Given the description of an element on the screen output the (x, y) to click on. 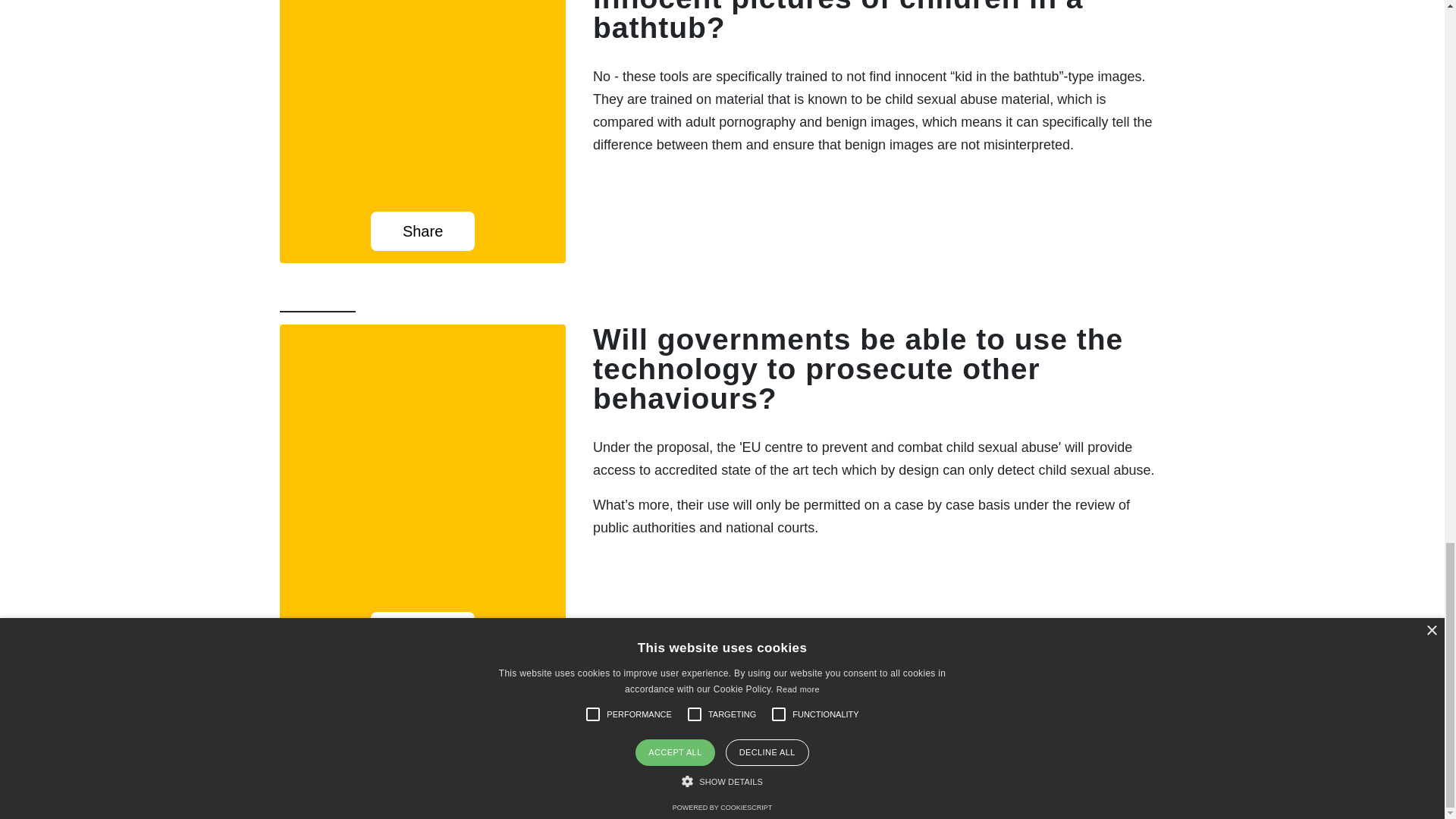
Share (423, 230)
